Given the description of an element on the screen output the (x, y) to click on. 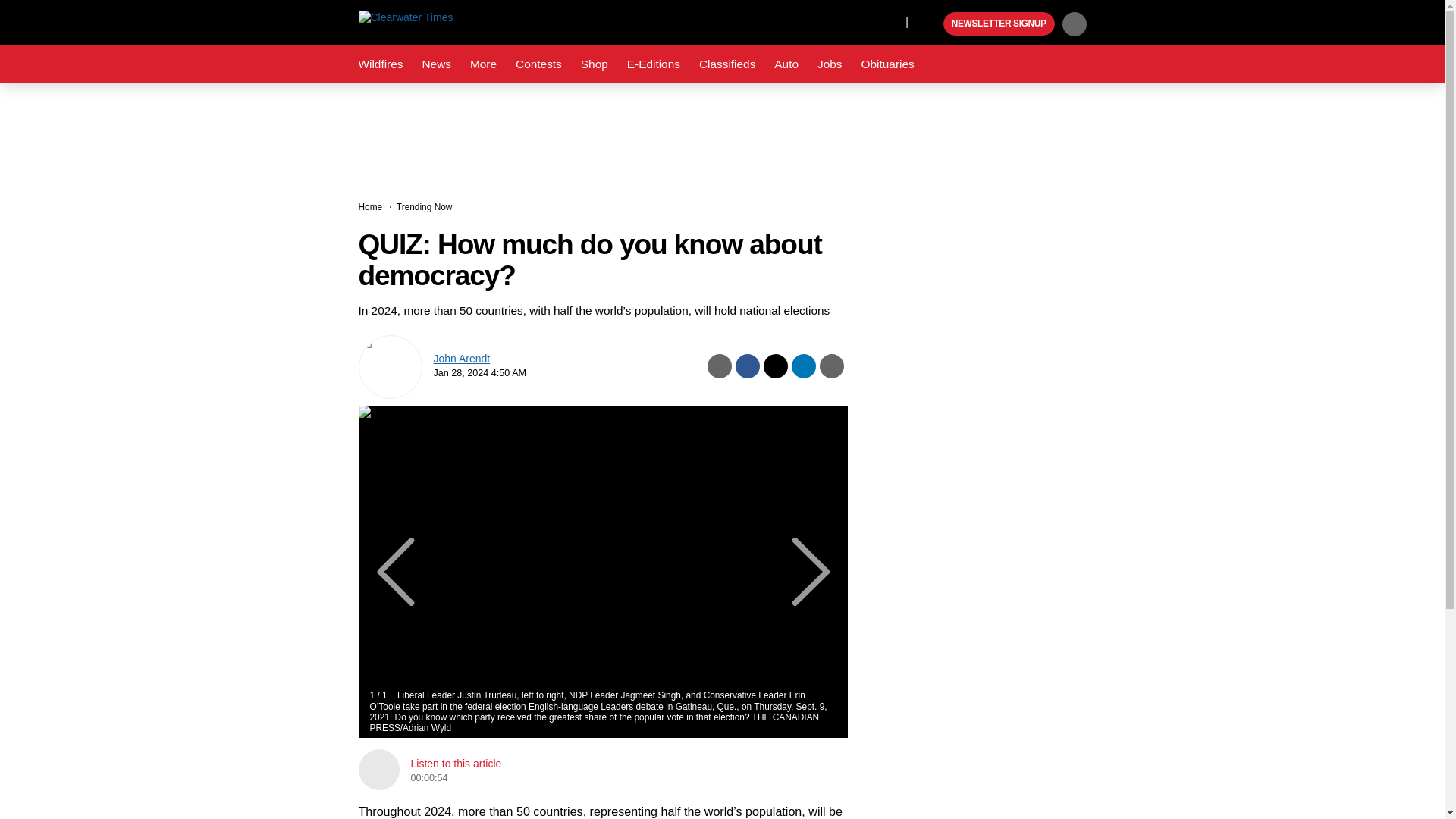
NEWSLETTER SIGNUP (998, 24)
Black Press Media (929, 24)
News (435, 64)
Wildfires (380, 64)
Play (929, 24)
X (889, 21)
